Given the description of an element on the screen output the (x, y) to click on. 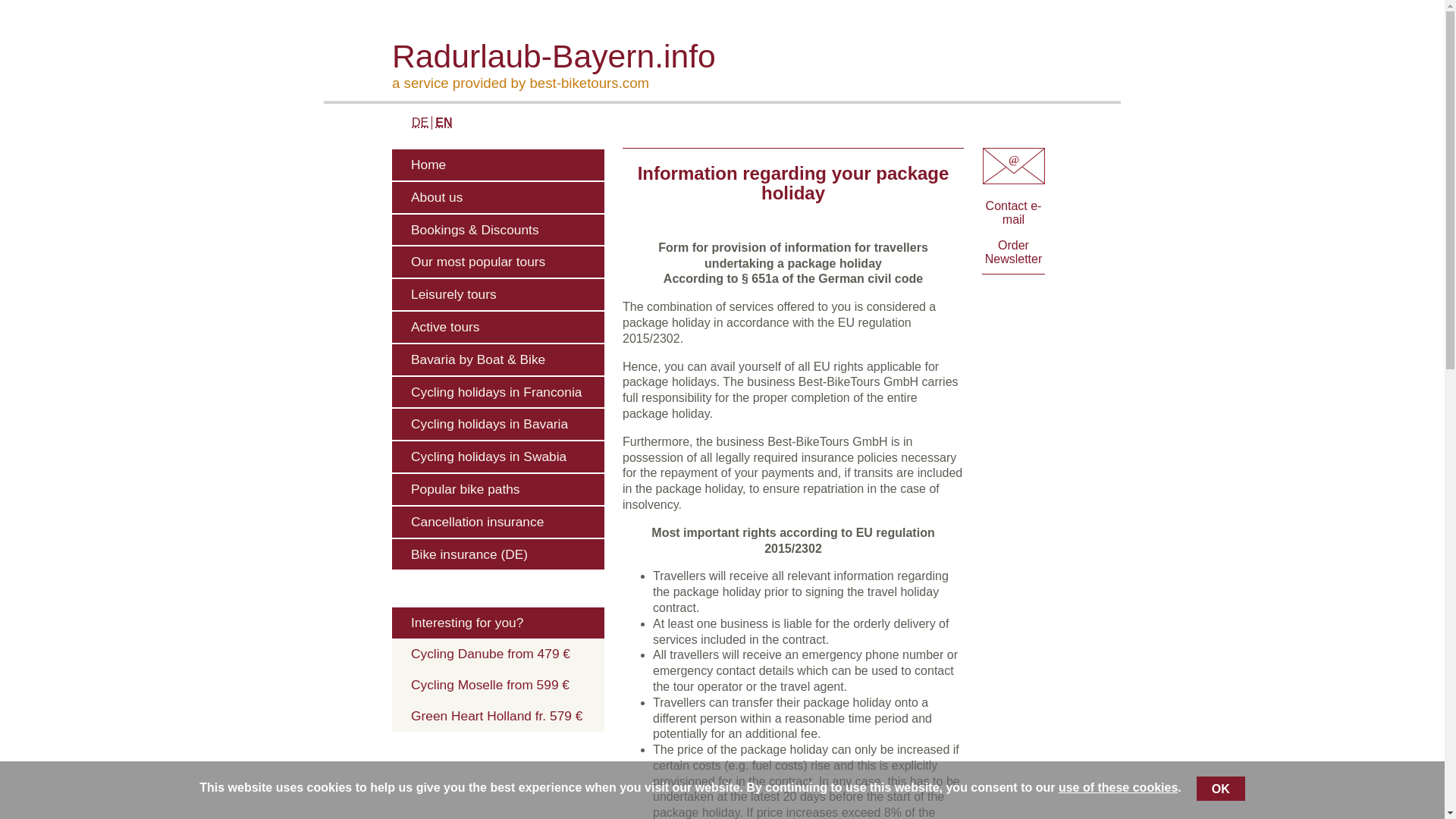
OK (1220, 788)
English (442, 122)
OK (1220, 788)
Home (497, 164)
EN (442, 122)
use of these cookies (1117, 787)
German (419, 122)
best-biketours.com (589, 82)
Radurlaub-Bayern.info (756, 56)
DE (419, 122)
